Given the description of an element on the screen output the (x, y) to click on. 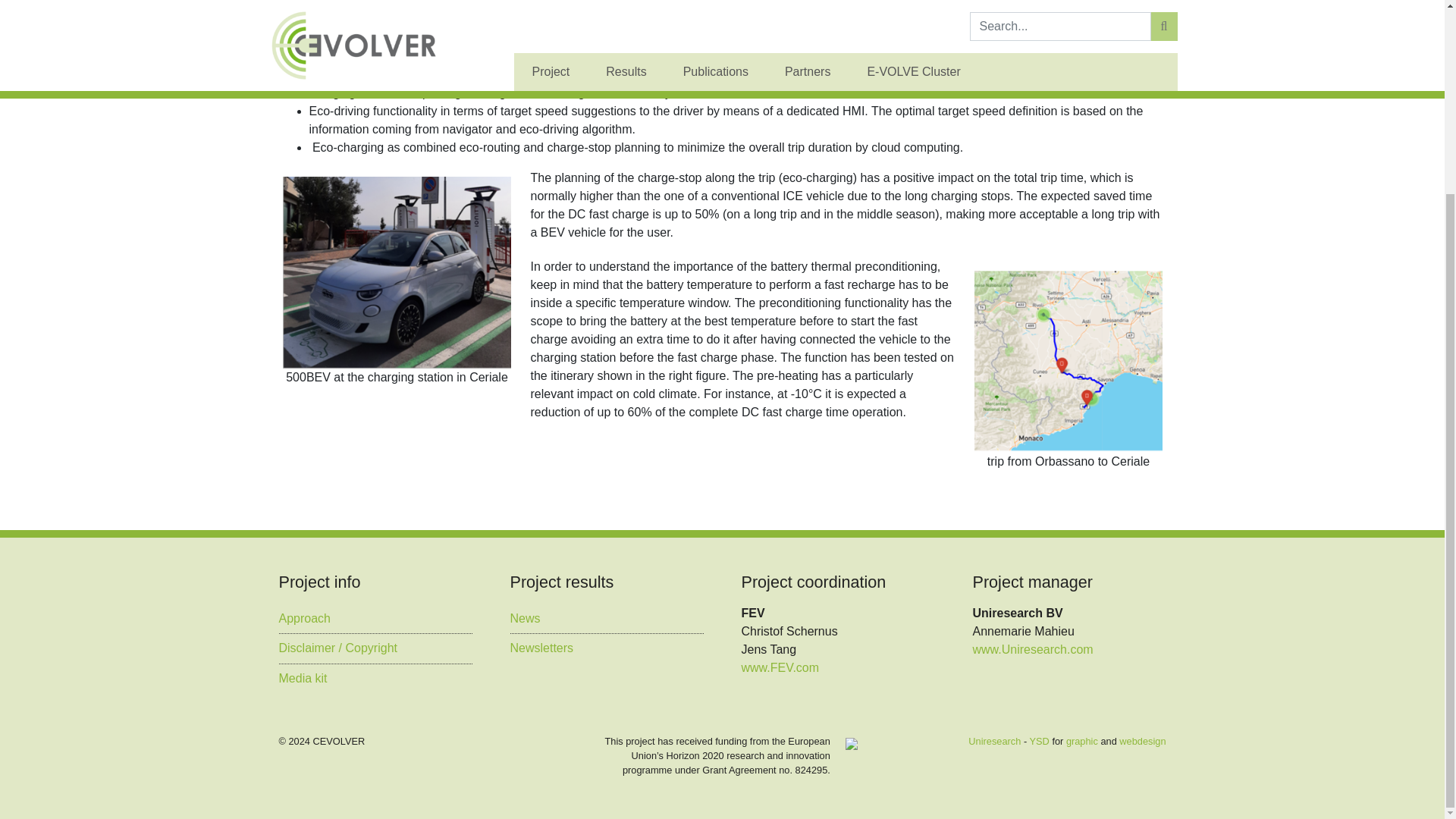
Uniresearch (994, 740)
Approach (305, 617)
www.Uniresearch.com (1032, 649)
YSD (1039, 740)
graphic (1081, 740)
Newsletters (541, 647)
Media kit (303, 677)
webdesign (1142, 740)
Uniresearch (994, 740)
News (524, 617)
Webdesign (1142, 740)
Reclamebureau Yourstyledesign (1039, 740)
www.FEV.com (780, 667)
